Given the description of an element on the screen output the (x, y) to click on. 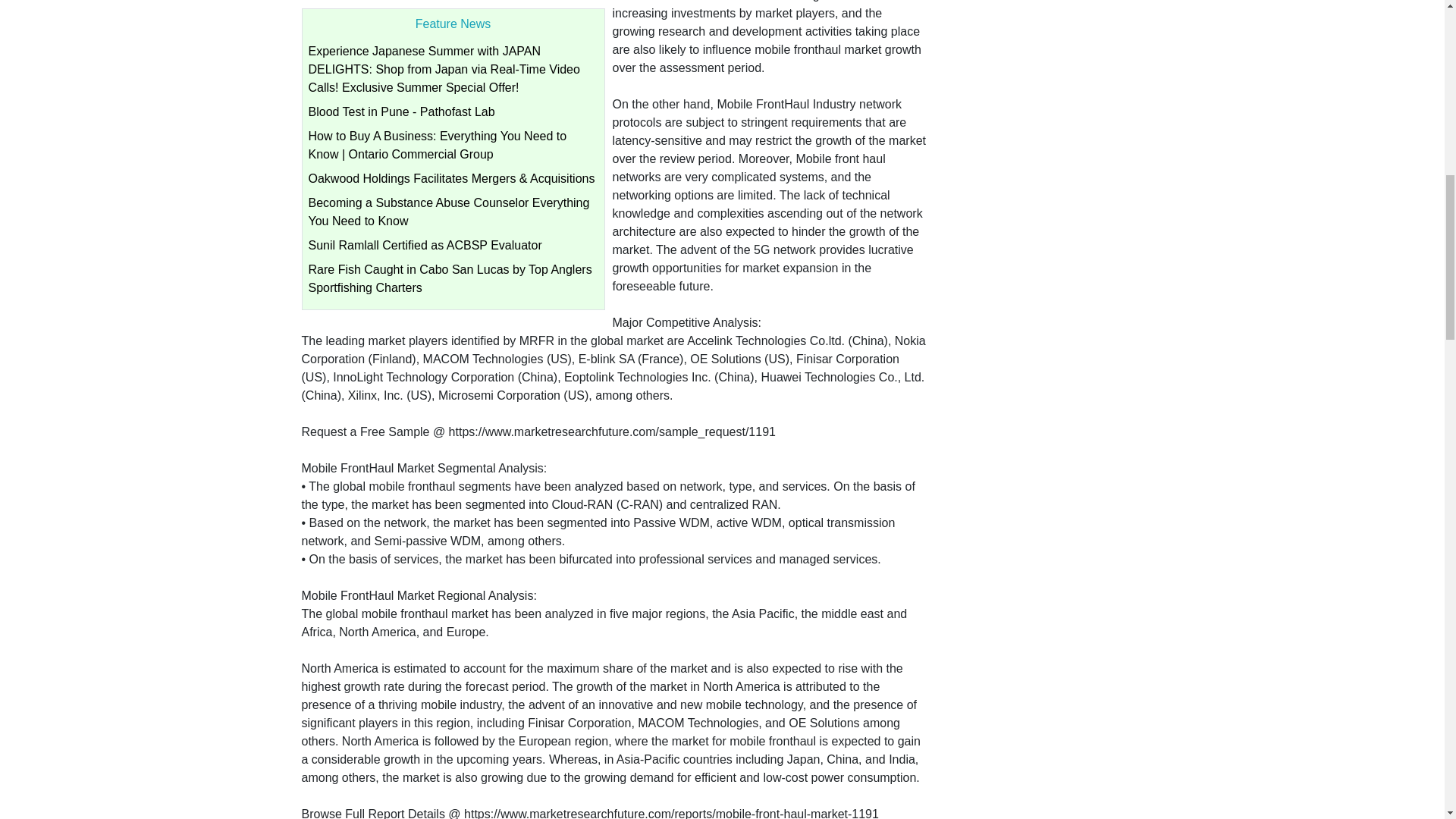
Sunil Ramlall Certified as ACBSP Evaluator (424, 245)
Blood Test in Pune - Pathofast Lab (401, 111)
